Given the description of an element on the screen output the (x, y) to click on. 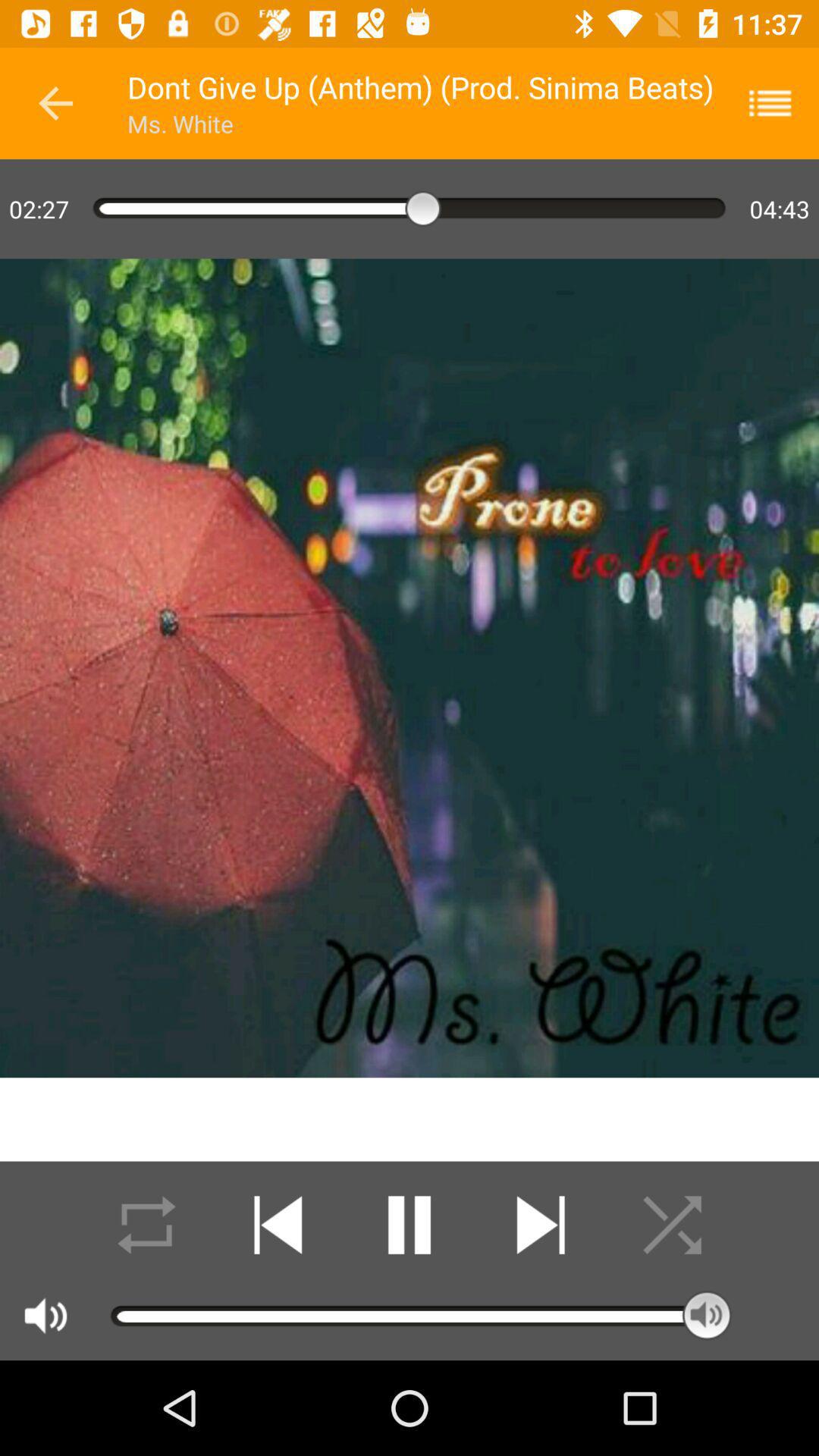
song list (779, 103)
